Given the description of an element on the screen output the (x, y) to click on. 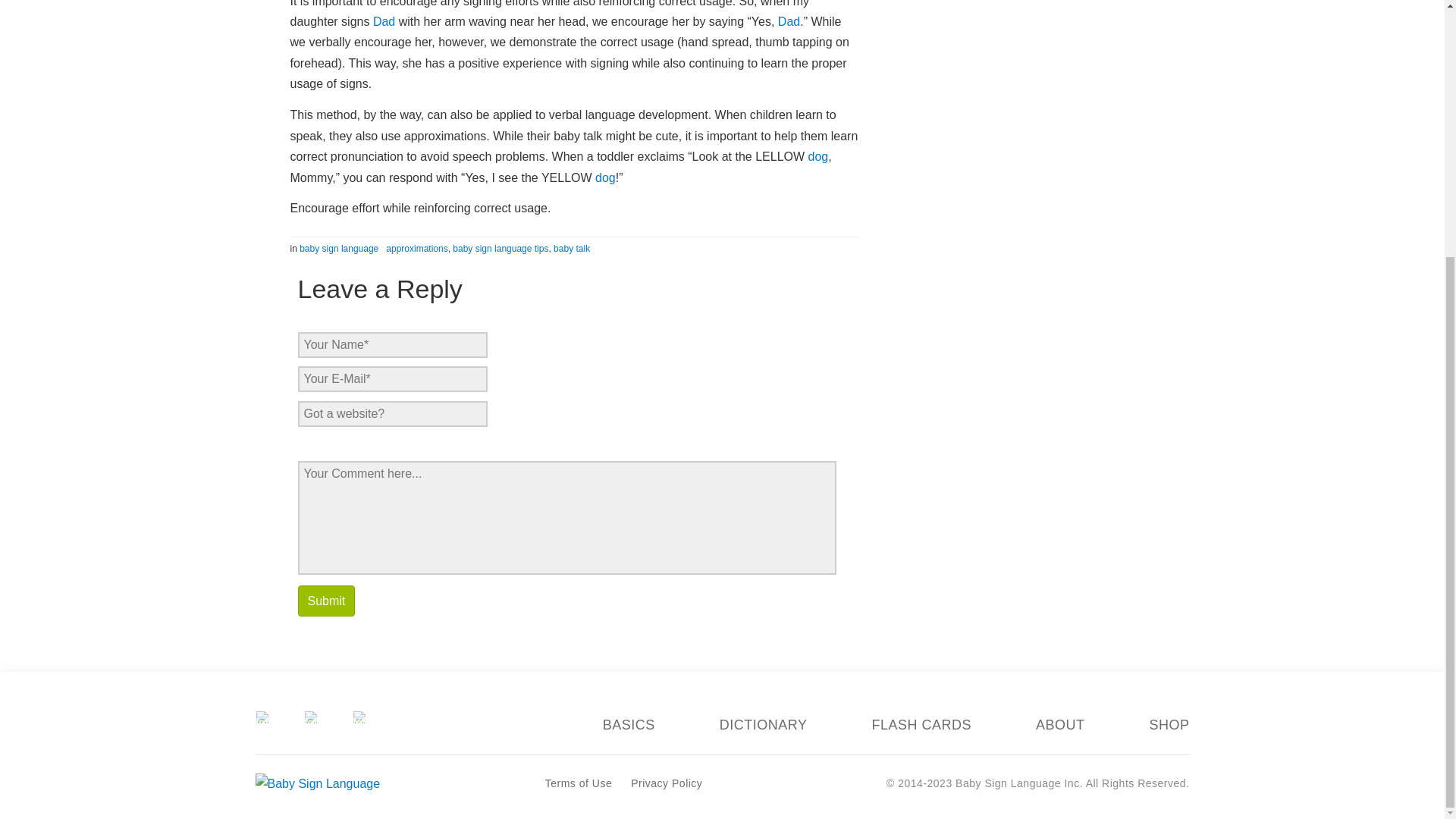
Submit (326, 600)
